Given the description of an element on the screen output the (x, y) to click on. 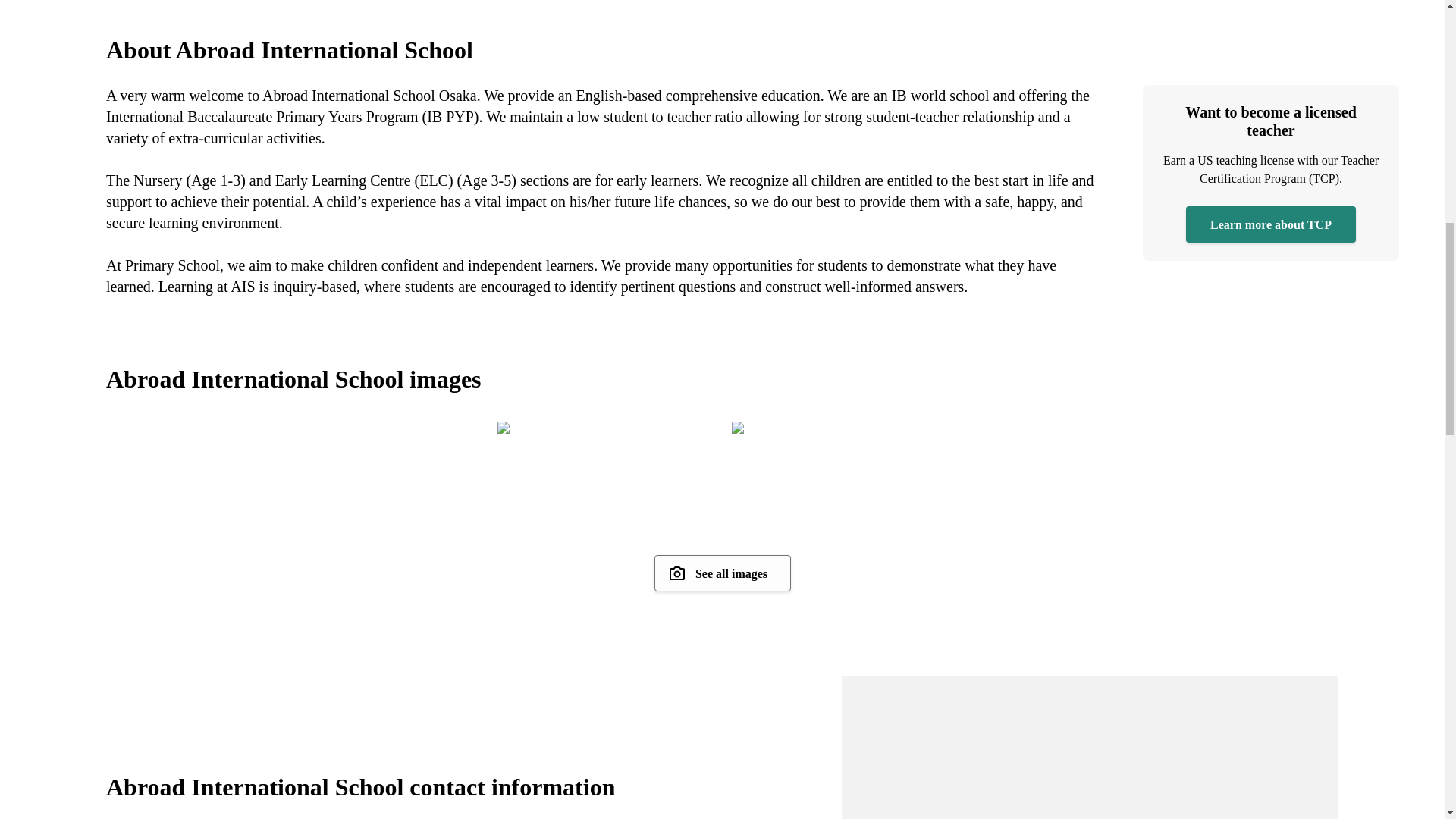
School map (1089, 747)
